Given the description of an element on the screen output the (x, y) to click on. 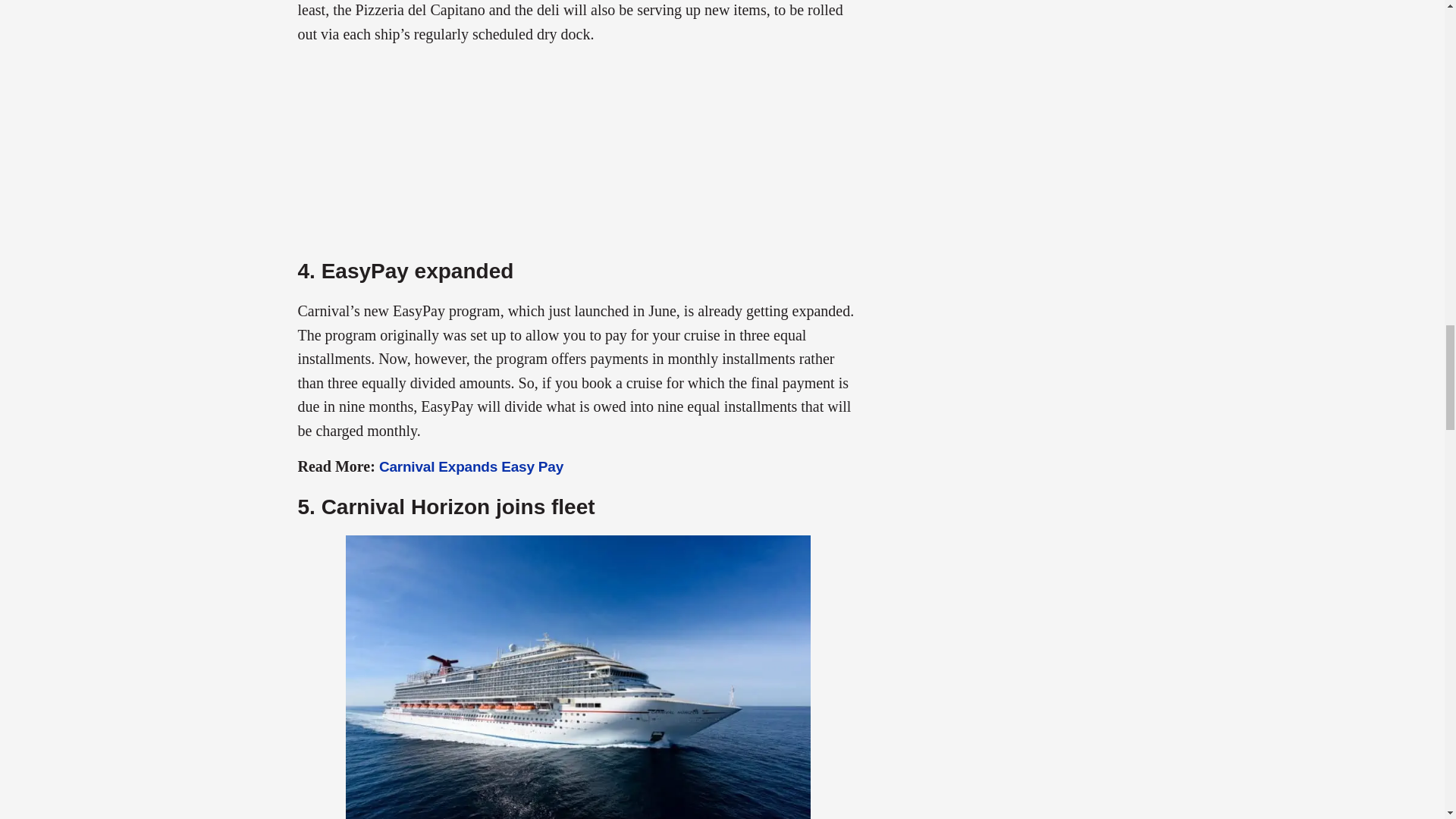
Carnival Expands Easy Pay (470, 466)
